Given the description of an element on the screen output the (x, y) to click on. 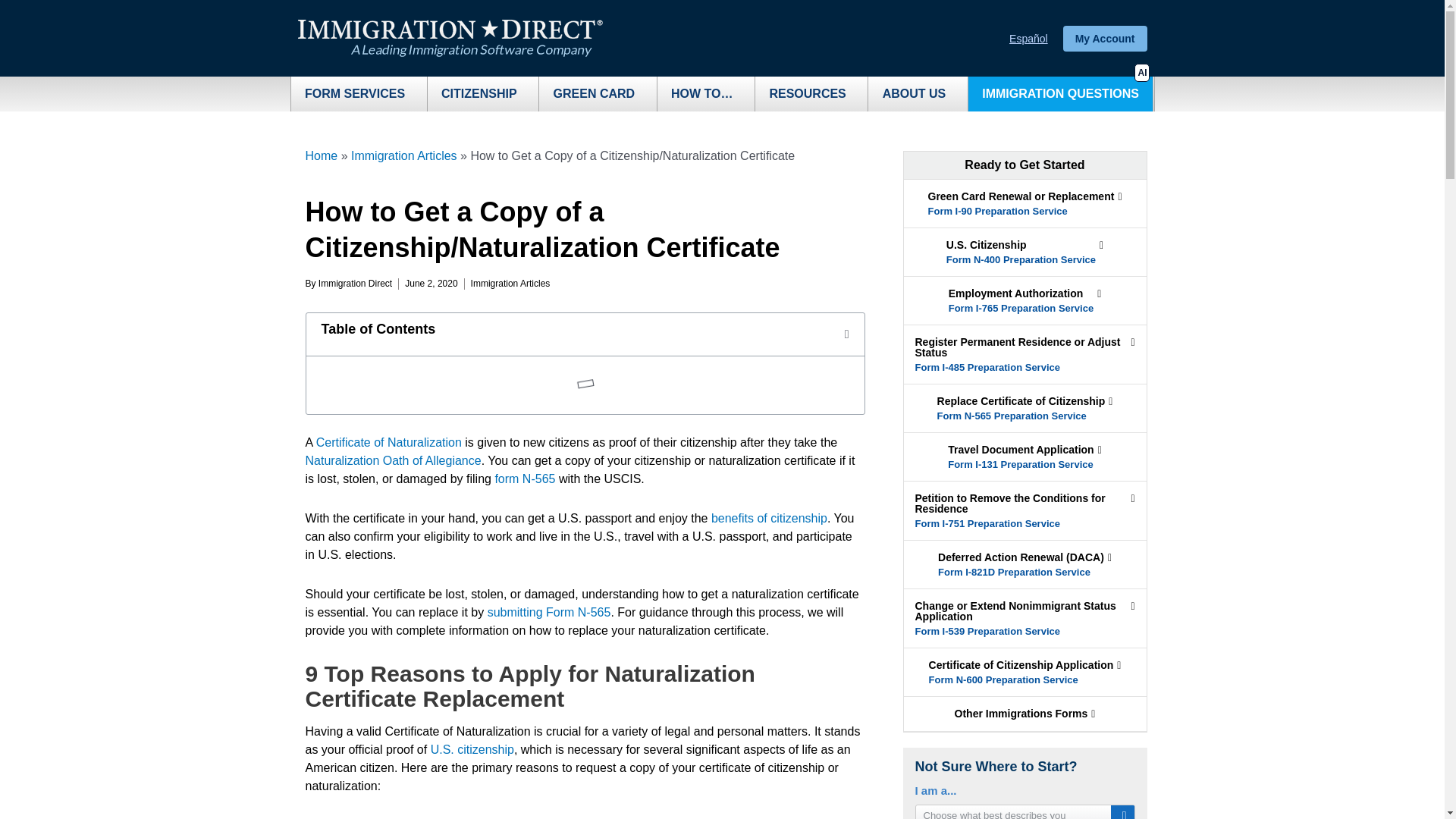
FORM SERVICES (358, 93)
My Account (1104, 38)
RESOURCES (811, 93)
GREEN CARD (597, 93)
CITIZENSHIP (483, 93)
